Given the description of an element on the screen output the (x, y) to click on. 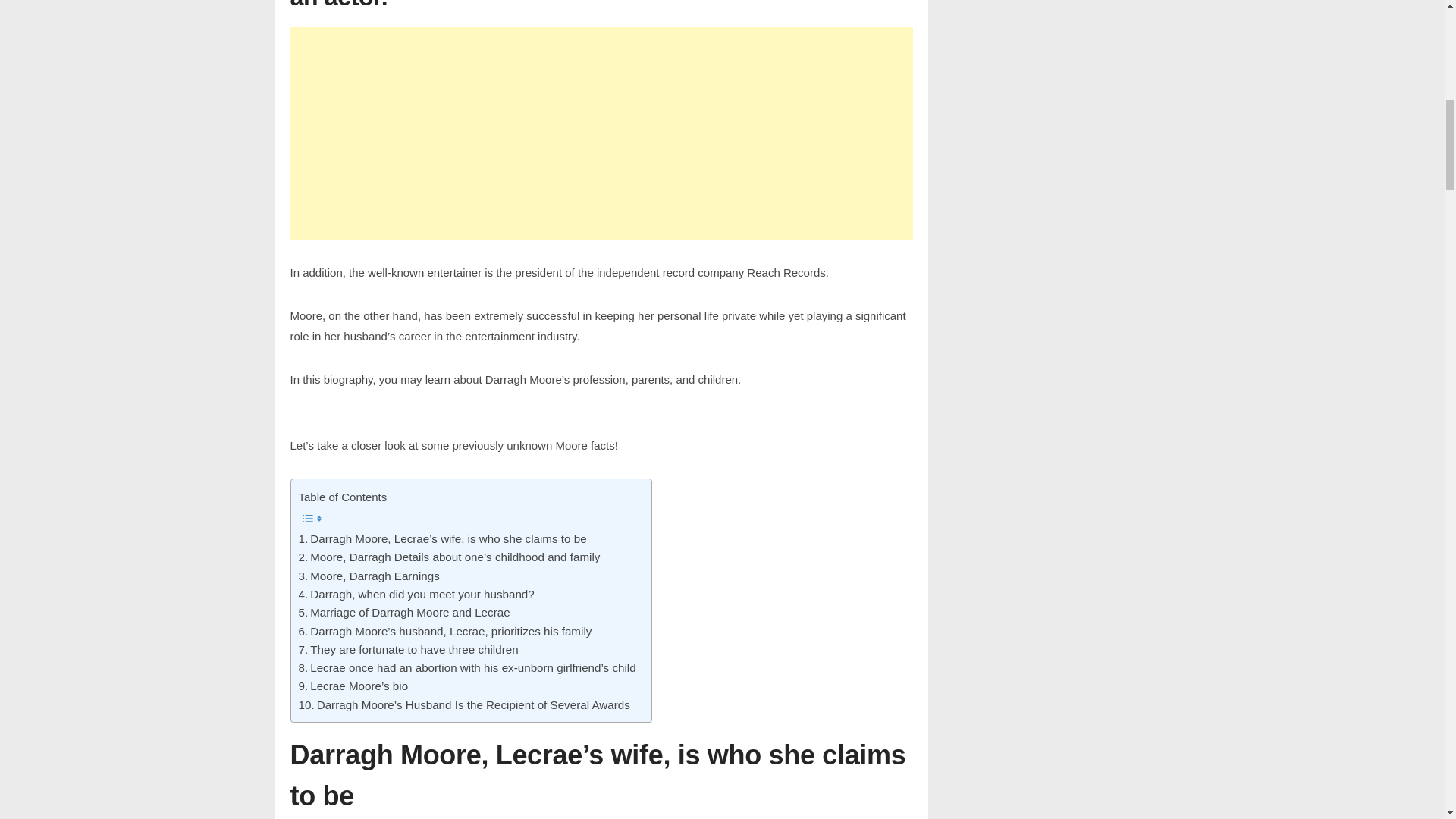
They are fortunate to have three children (408, 649)
Darragh, when did you meet your husband? (416, 594)
Darragh, when did you meet your husband? (416, 594)
They are fortunate to have three children (408, 649)
Marriage of Darragh Moore and Lecrae (404, 612)
Moore, Darragh Earnings (368, 576)
Advertisement (598, 133)
Moore, Darragh Earnings (368, 576)
Marriage of Darragh Moore and Lecrae (404, 612)
